Given the description of an element on the screen output the (x, y) to click on. 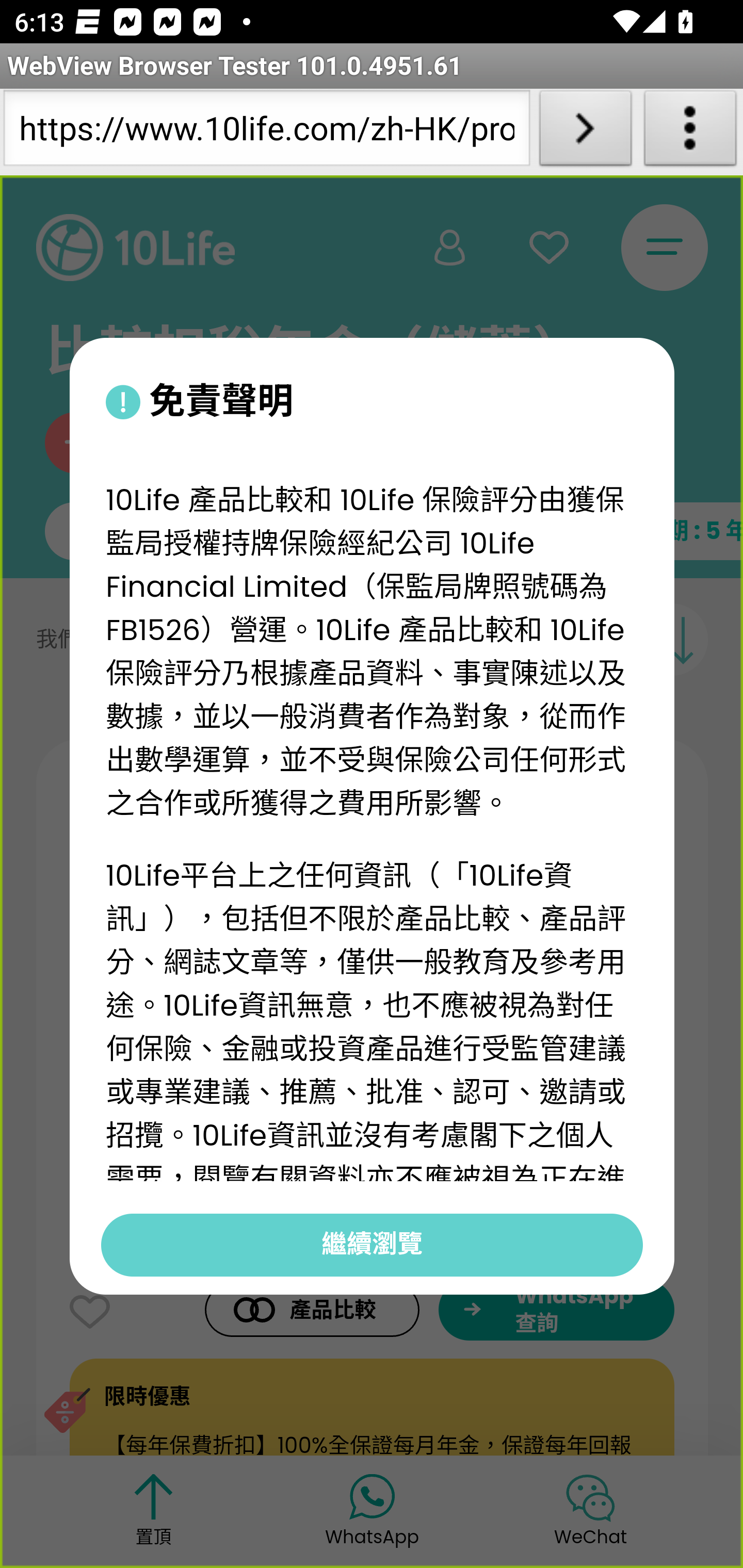
Load URL (585, 132)
About WebView (690, 132)
繼續瀏覽 (371, 1244)
